Given the description of an element on the screen output the (x, y) to click on. 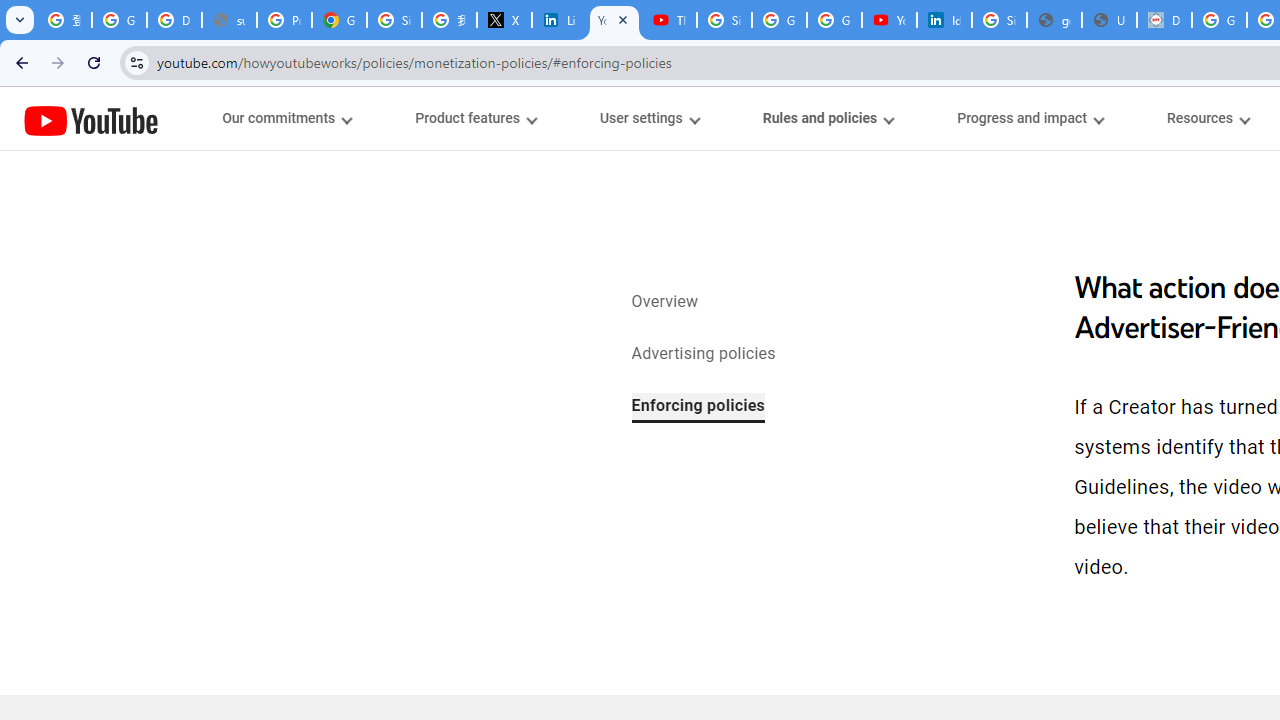
Sign in - Google Accounts (394, 20)
Sign in - Google Accounts (724, 20)
YouTube (91, 120)
YouTube Content Monetization Policies - How YouTube Works (614, 20)
Product features menupopup (475, 118)
